Given the description of an element on the screen output the (x, y) to click on. 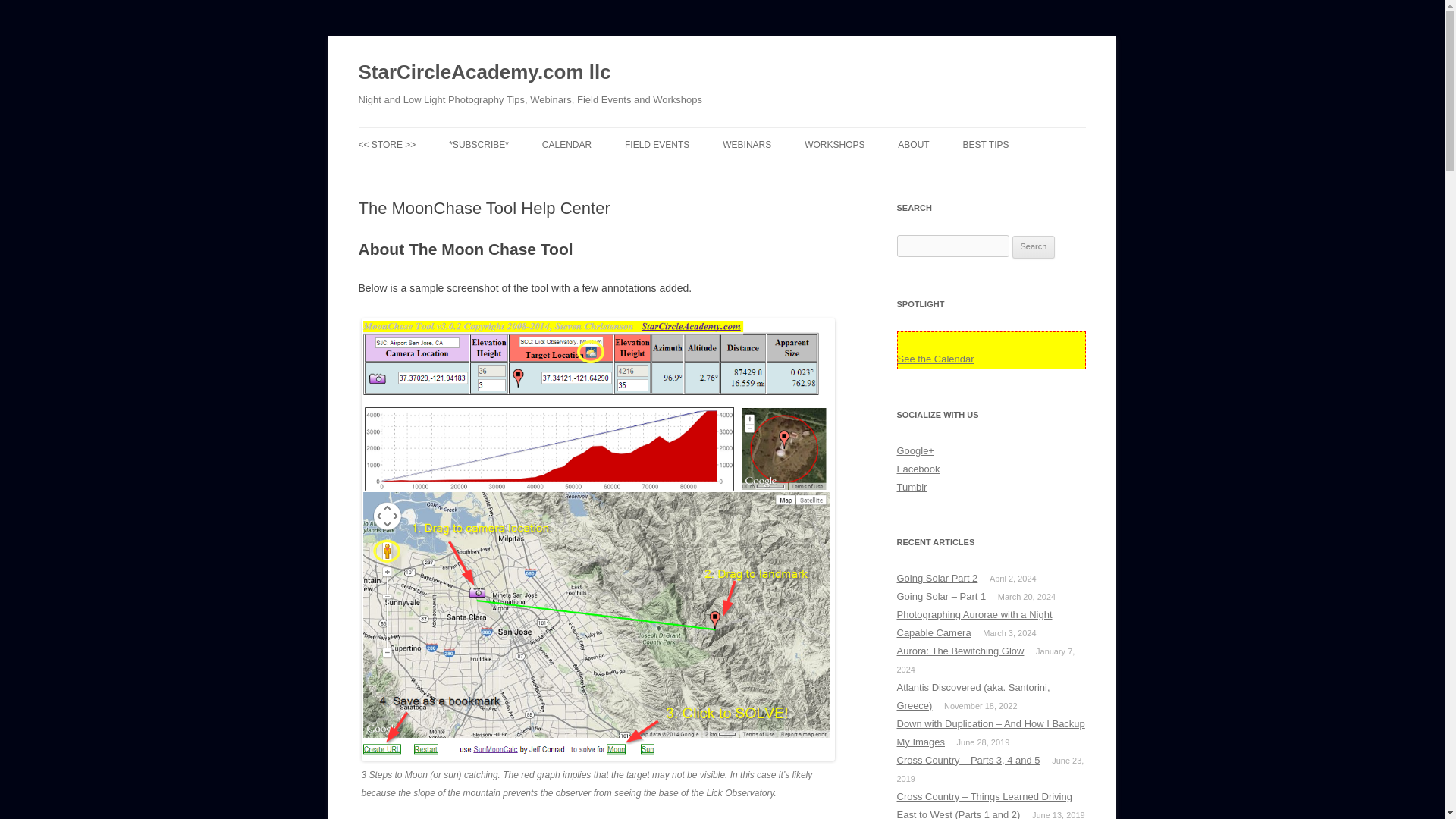
ABOUT WEBINARS (798, 176)
ABOUT (913, 144)
Search (1033, 246)
FIELD EVENTS (656, 144)
PHOTOSHOP EXTRAS (433, 176)
ALABAMA HILLS AND METEOR SHOWERS (700, 185)
WORKSHOPS (834, 144)
CALENDAR (566, 144)
StarCircleAcademy.com llc (484, 72)
GALLERY (973, 176)
WEBINARS (746, 144)
ALABAMA HILLS (880, 176)
